Given the description of an element on the screen output the (x, y) to click on. 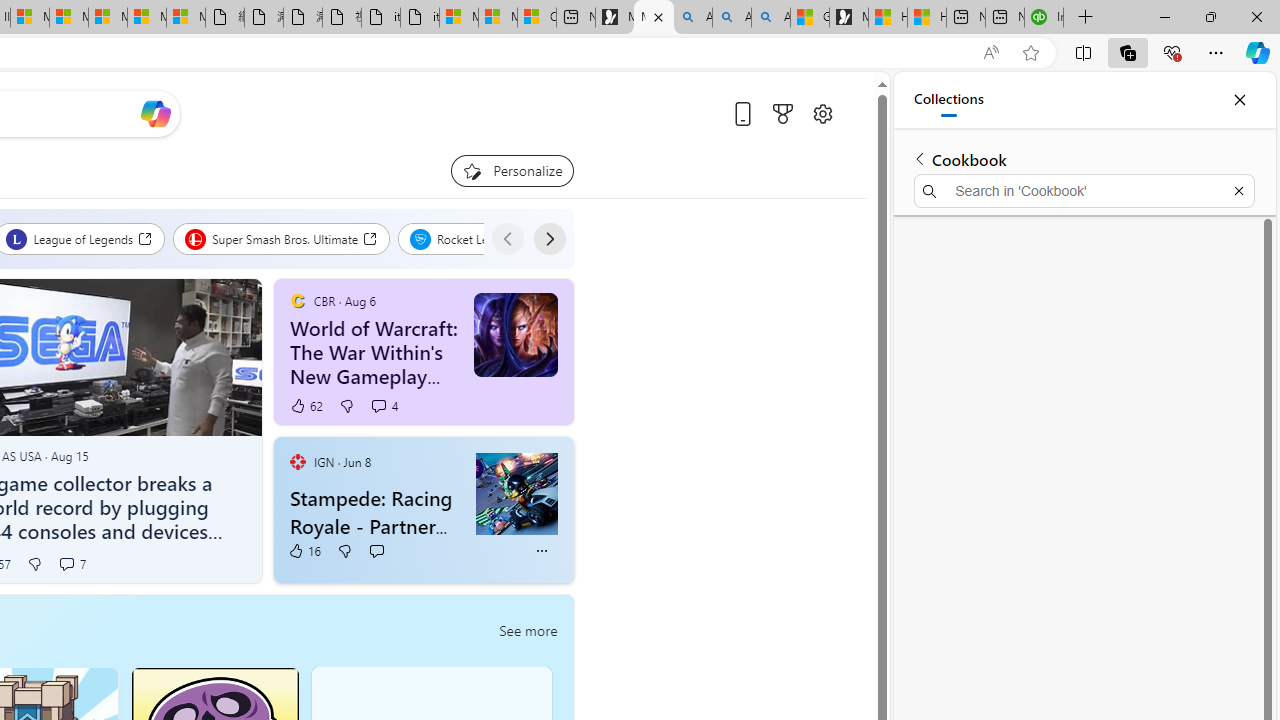
CBR (297, 300)
Stampede: Racing Royale - Partner Spotlight | IGN Live (516, 493)
